Given the description of an element on the screen output the (x, y) to click on. 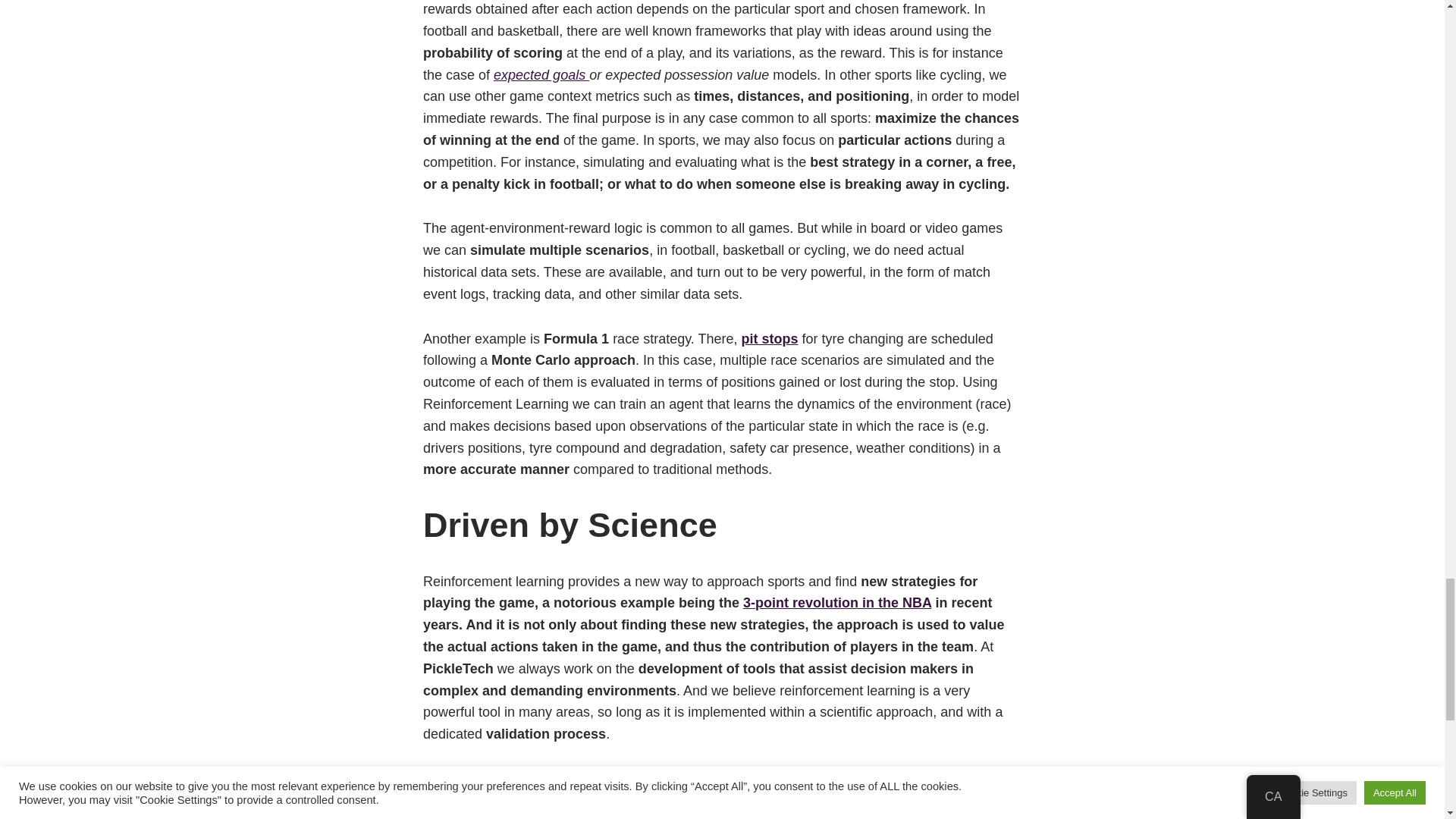
pit stops (769, 338)
expected goals (541, 74)
3-point revolution in the NBA (836, 602)
Contacte (722, 788)
